Given the description of an element on the screen output the (x, y) to click on. 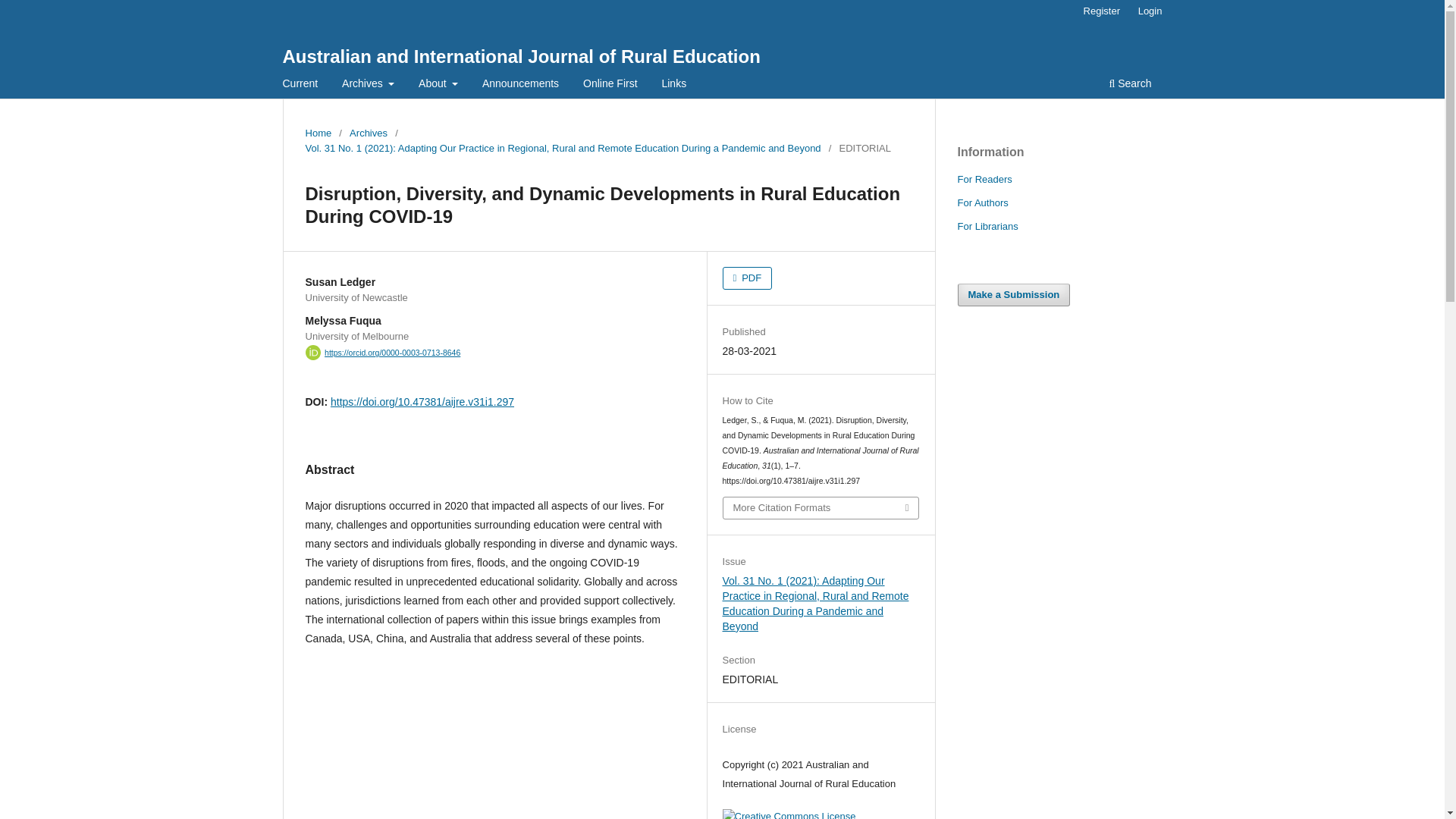
Login (1150, 11)
PDF (747, 277)
Links (673, 85)
Home (317, 133)
About (438, 85)
Australian and International Journal of Rural Education (521, 56)
Online First (610, 85)
More Citation Formats (820, 507)
Current (300, 85)
Archives (367, 85)
